Given the description of an element on the screen output the (x, y) to click on. 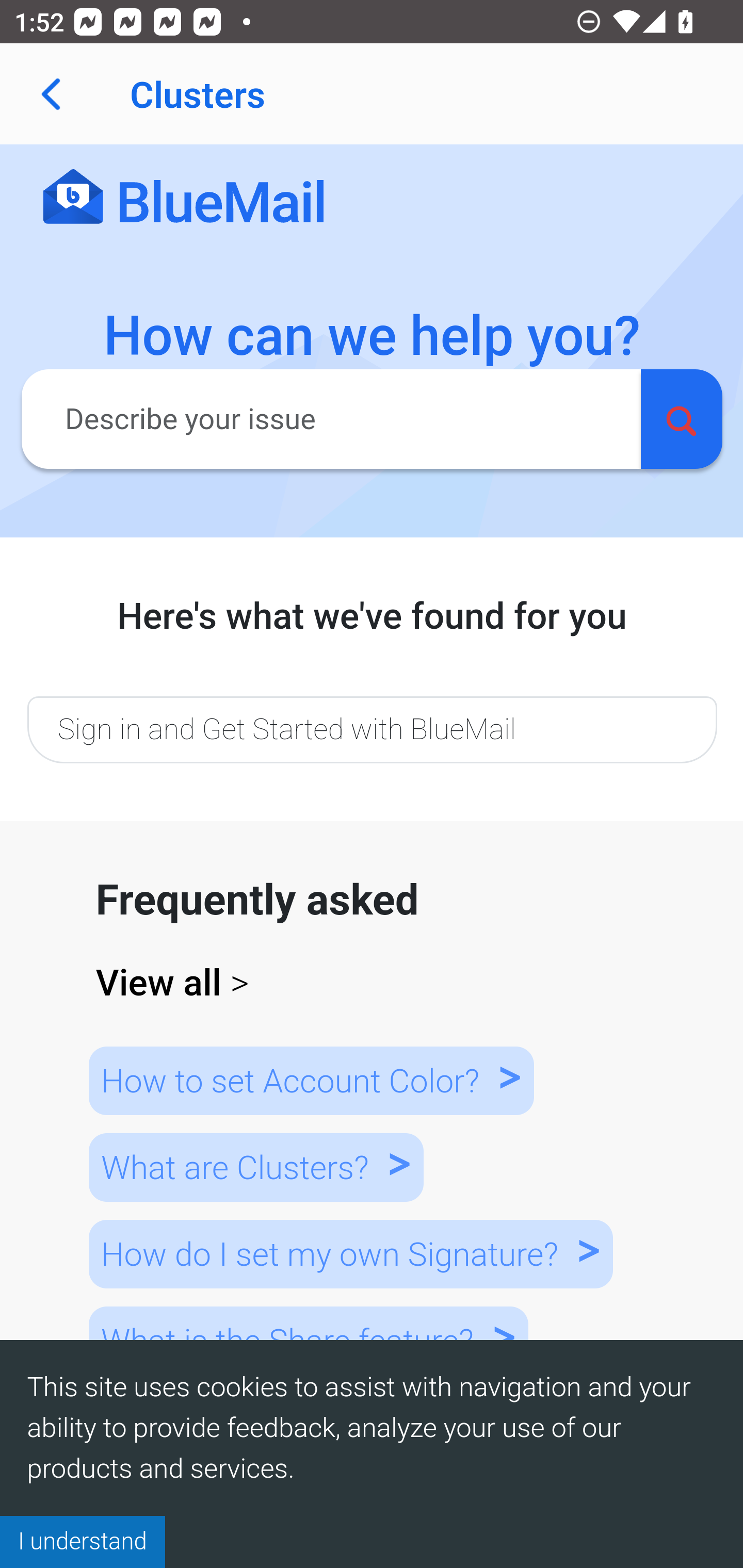
Navigate up (50, 93)
BlueMail Logo (184, 197)
How can we help you? (372, 336)
search (680, 418)
Sign in and Get Started with BlueMail (371, 728)
View all> (372, 982)
How to set Account Color?> (310, 1080)
What are Clusters?> (255, 1166)
How do I set my own Signature?> (349, 1253)
Accept cookies (83, 1541)
